Given the description of an element on the screen output the (x, y) to click on. 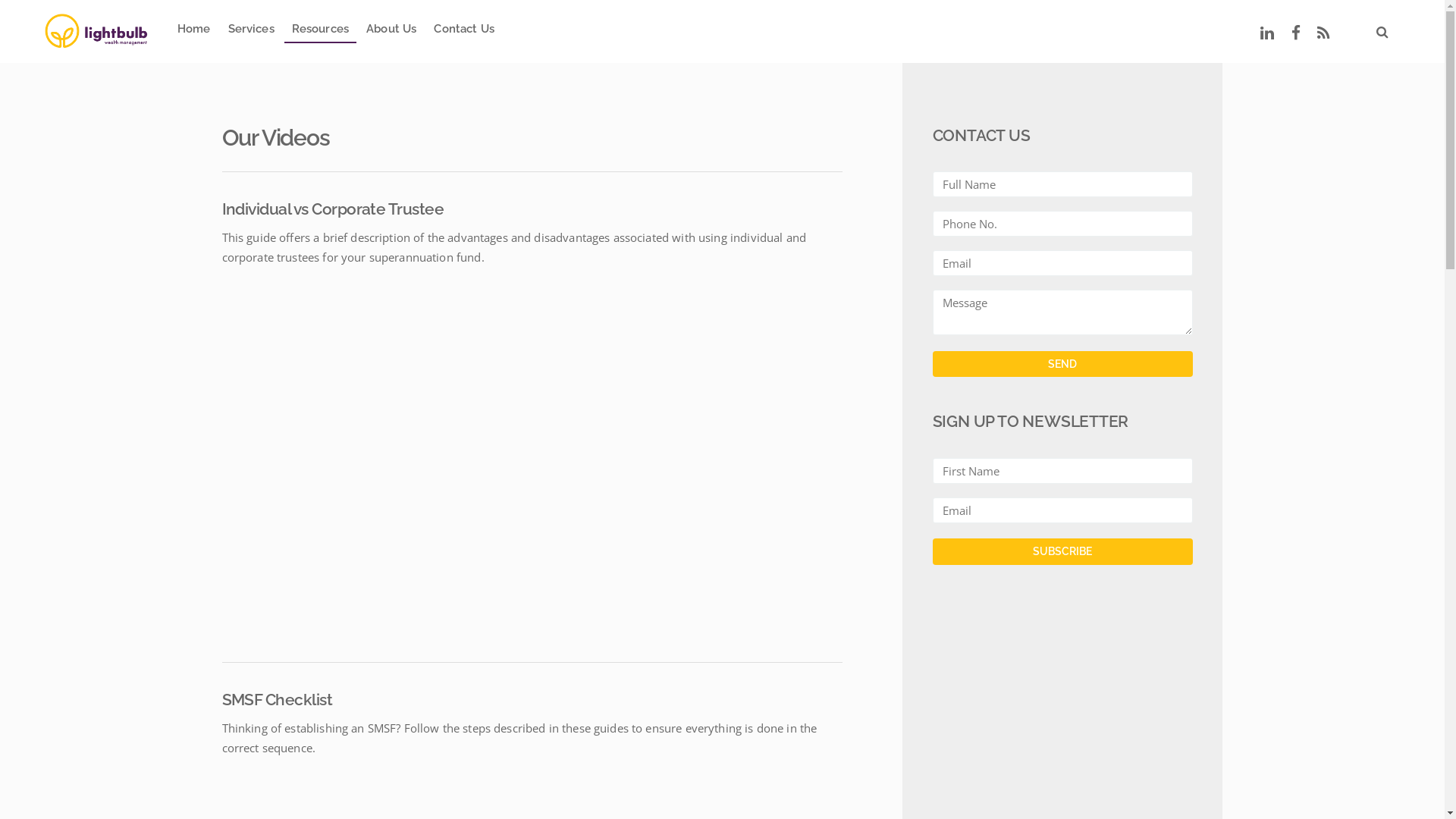
About Us Element type: text (391, 31)
SMSF Checklist Element type: text (276, 699)
Home Element type: text (192, 31)
Services Element type: text (250, 31)
RSS Element type: hover (1323, 30)
LinkedIn Element type: hover (1267, 30)
Contact Us Element type: text (463, 31)
Lightbulb Wealth Element type: hover (95, 27)
Resources Element type: text (319, 31)
Send Element type: text (1062, 364)
Individual vs Corporate Trustee Element type: text (332, 208)
Lightbulb Wealth Element type: hover (95, 31)
Subscribe Element type: text (1062, 551)
Facebook Element type: hover (1295, 30)
